Given the description of an element on the screen output the (x, y) to click on. 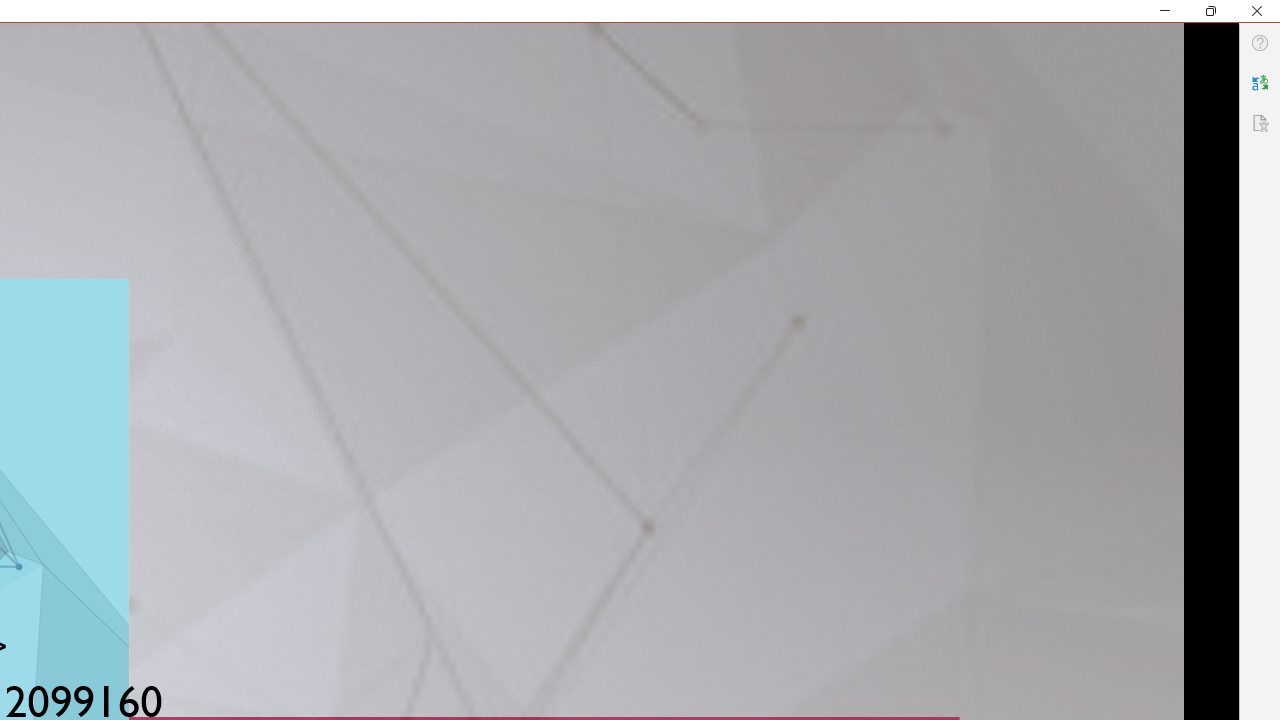
Translator (1260, 82)
